Given the description of an element on the screen output the (x, y) to click on. 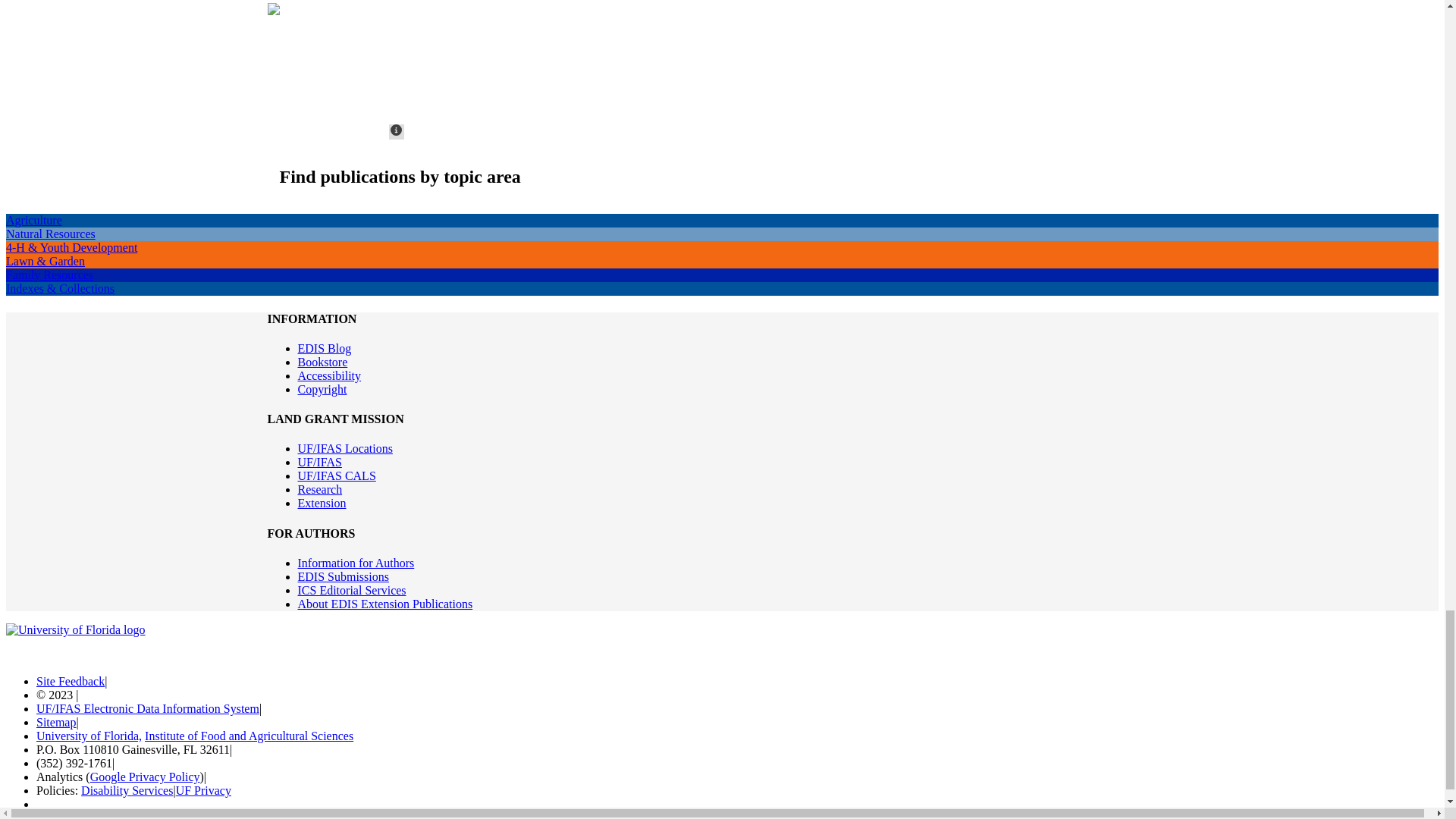
Natural Resources (50, 233)
EDIS Blog (323, 348)
Copyright (321, 389)
Accessibility (329, 375)
Bookstore (322, 361)
Copyright (321, 389)
Family Resources (49, 274)
College of Agricultural and Life Sciences (336, 475)
Accessibility (329, 375)
EDIS Blog (323, 348)
Agriculture (33, 219)
